Given the description of an element on the screen output the (x, y) to click on. 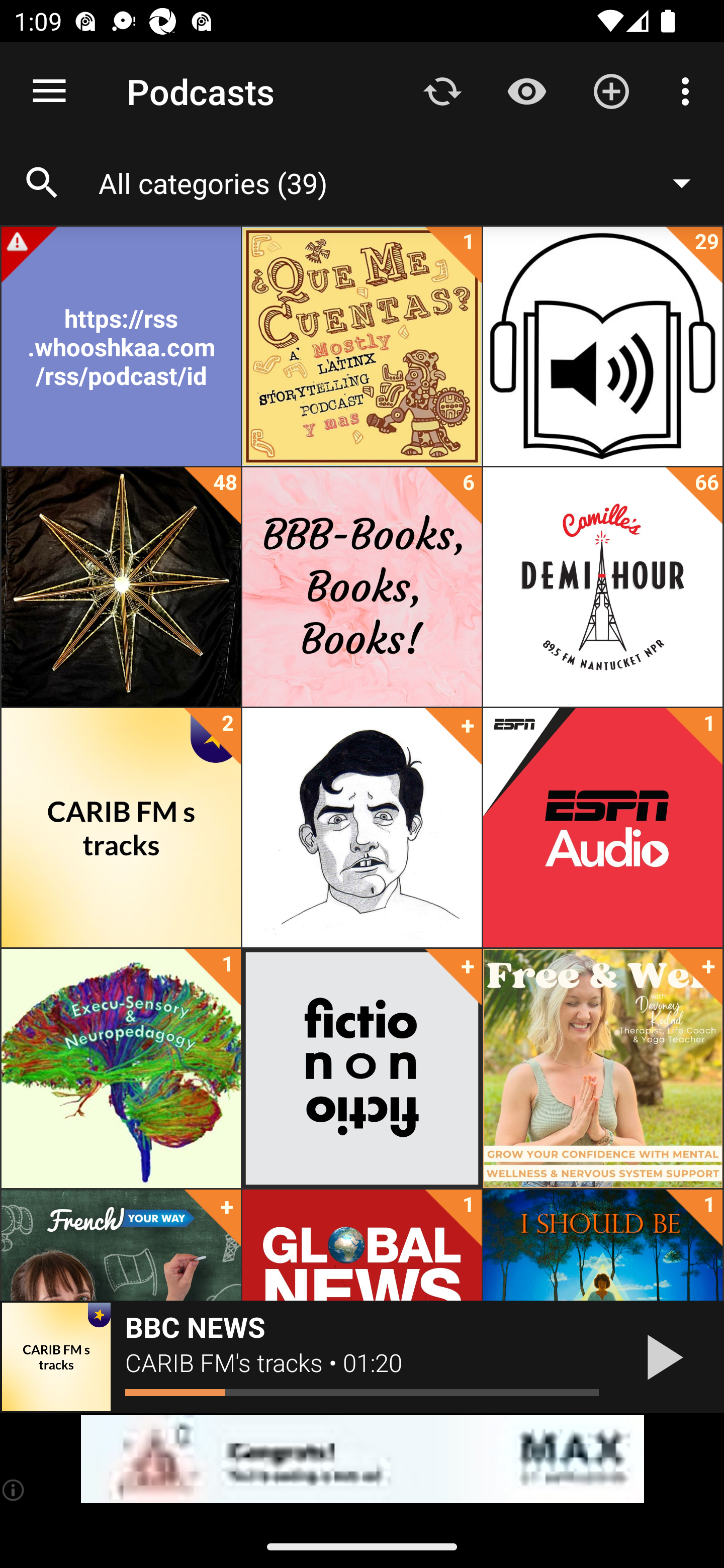
Open navigation sidebar (49, 91)
Update (442, 90)
Show / Hide played content (526, 90)
Add new Podcast (611, 90)
More options (688, 90)
Search (42, 183)
All categories (39) (404, 182)
https://rss.whooshkaa.com/rss/podcast/id/5884 (121, 346)
¿Qué Me Cuentas?: Latinx Storytelling 1 (361, 346)
Audiobooks 29 (602, 346)
Audiobooks 48 (121, 587)
BBB-Books, Books, Books! 6 (361, 587)
Camille's Demi-Hour - NANTUCKET NPR 66 (602, 587)
CARIB FM's tracks 2 (121, 827)
Cooking Issues with Dave Arnold + (361, 827)
ESPN Audio 1 (602, 827)
fiction/non/fiction + (361, 1068)
Play / Pause (660, 1356)
app-monetization (362, 1459)
(i) (14, 1489)
